Given the description of an element on the screen output the (x, y) to click on. 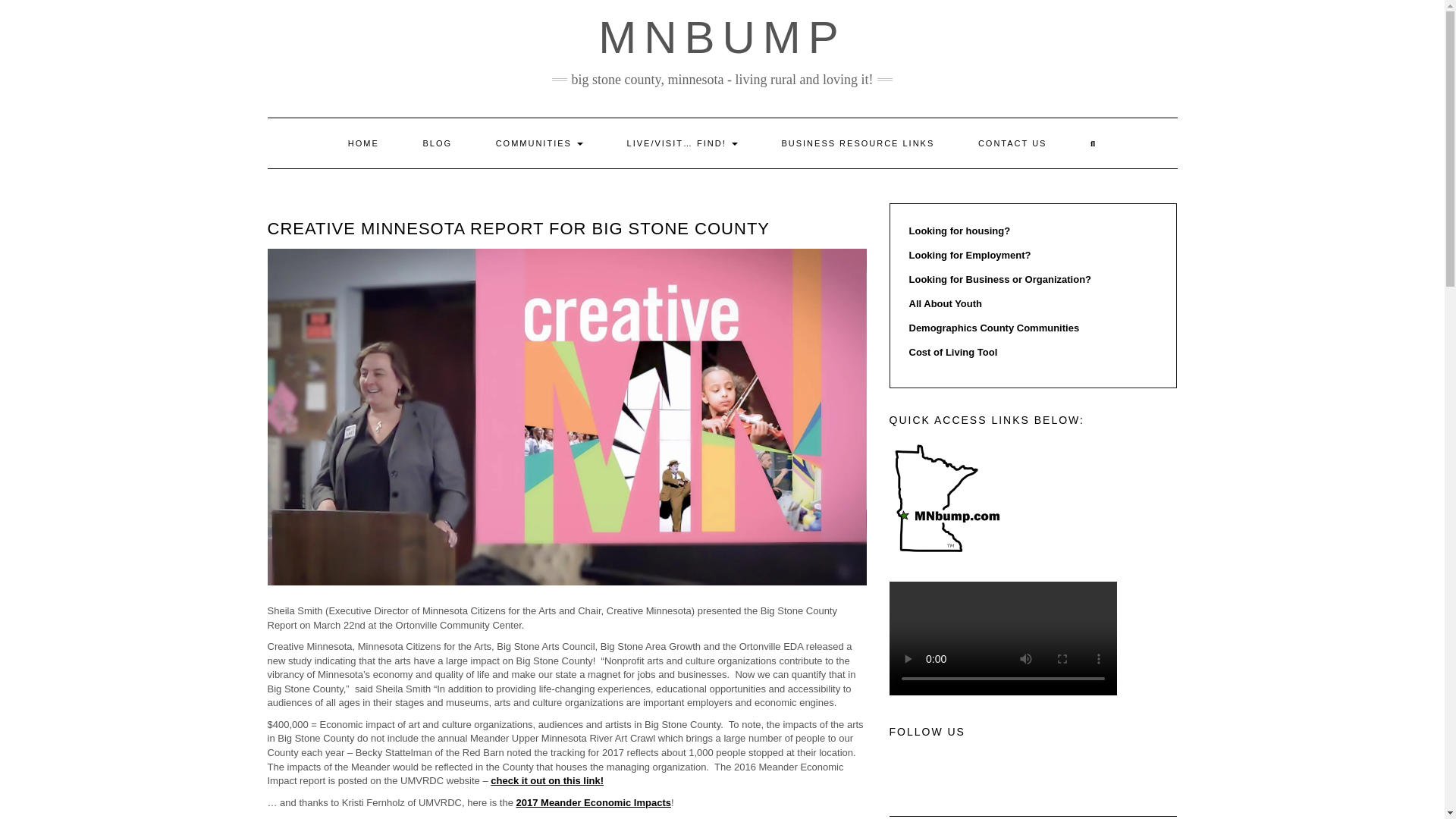
Link to report (752, 818)
COMMUNITIES (540, 142)
MNBUMP (721, 37)
BUSINESS RESOURCE LINKS (857, 142)
CONTACT US (1012, 142)
BLOG (436, 142)
Quick Access Links (945, 498)
2017 Meander Economic Impacts (593, 802)
check it out on this link! (547, 780)
HOME (362, 142)
